Given the description of an element on the screen output the (x, y) to click on. 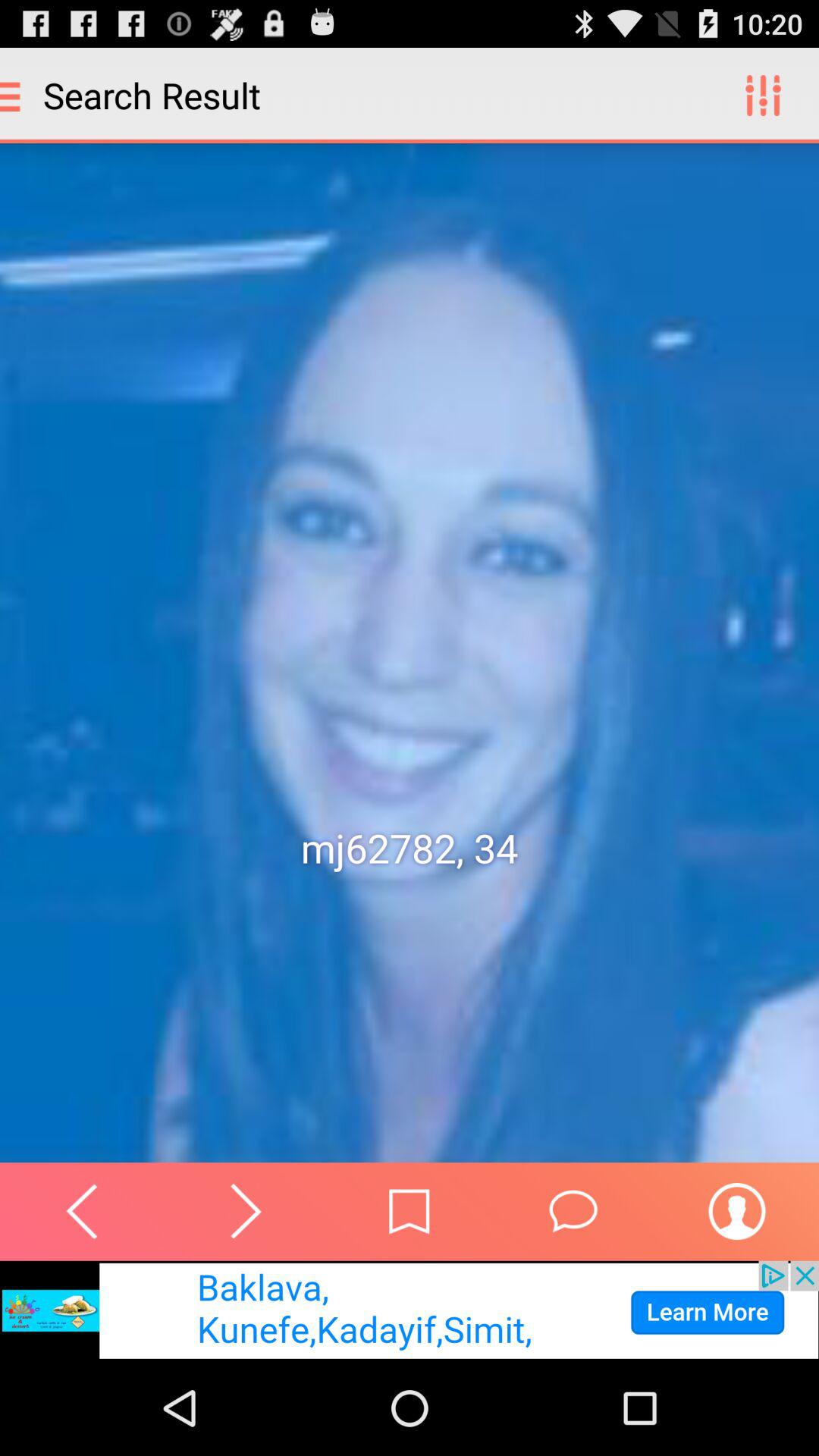
click advertisement (409, 1310)
